Given the description of an element on the screen output the (x, y) to click on. 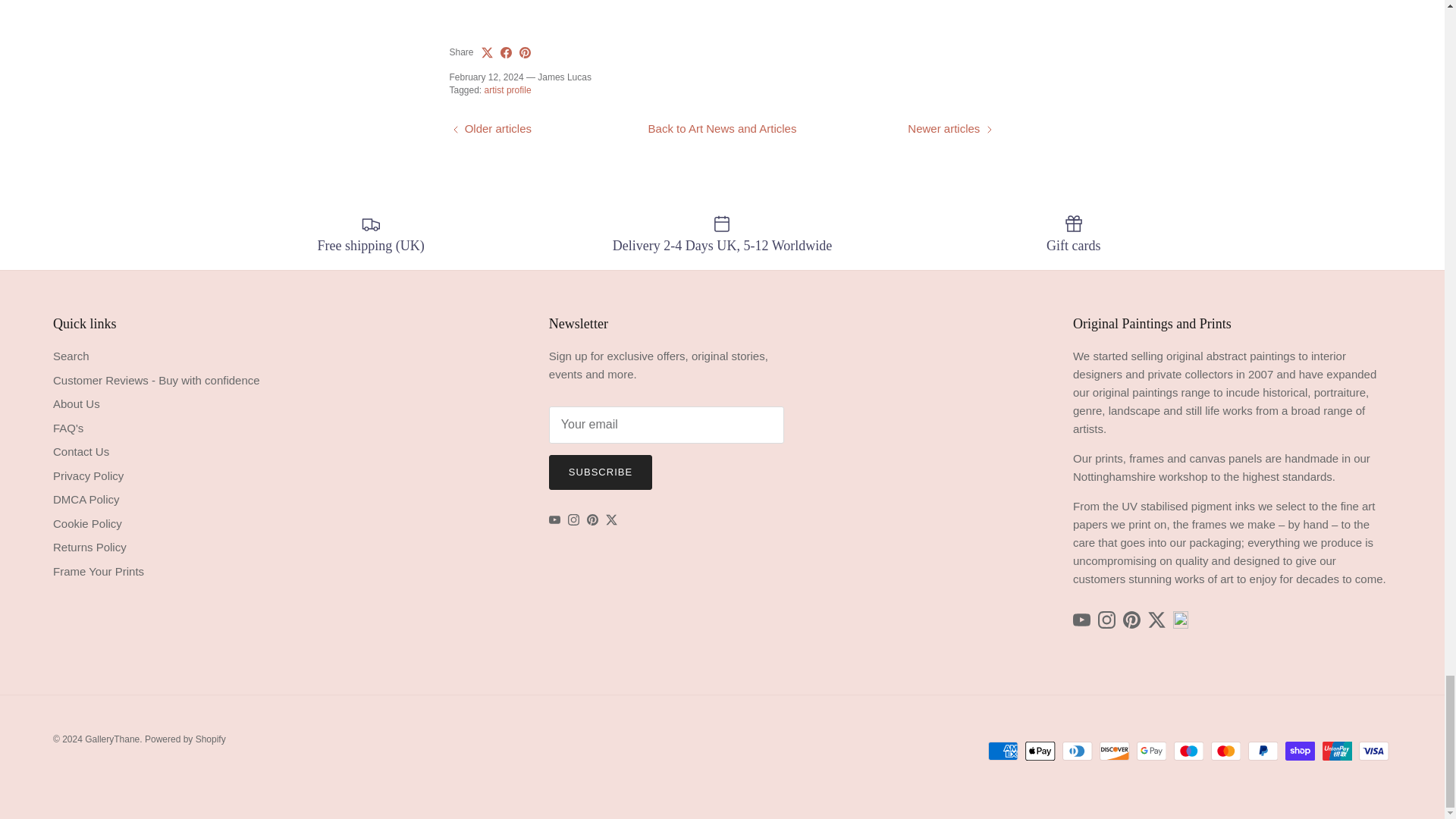
GalleryThane on Pinterest (592, 519)
Pin on Pinterest (525, 52)
Share on Facebook (506, 52)
GalleryThane on Instagram (573, 519)
Tweet on X (487, 52)
Show articles tagged artist profile (507, 90)
GalleryThane on YouTube (554, 519)
